Given the description of an element on the screen output the (x, y) to click on. 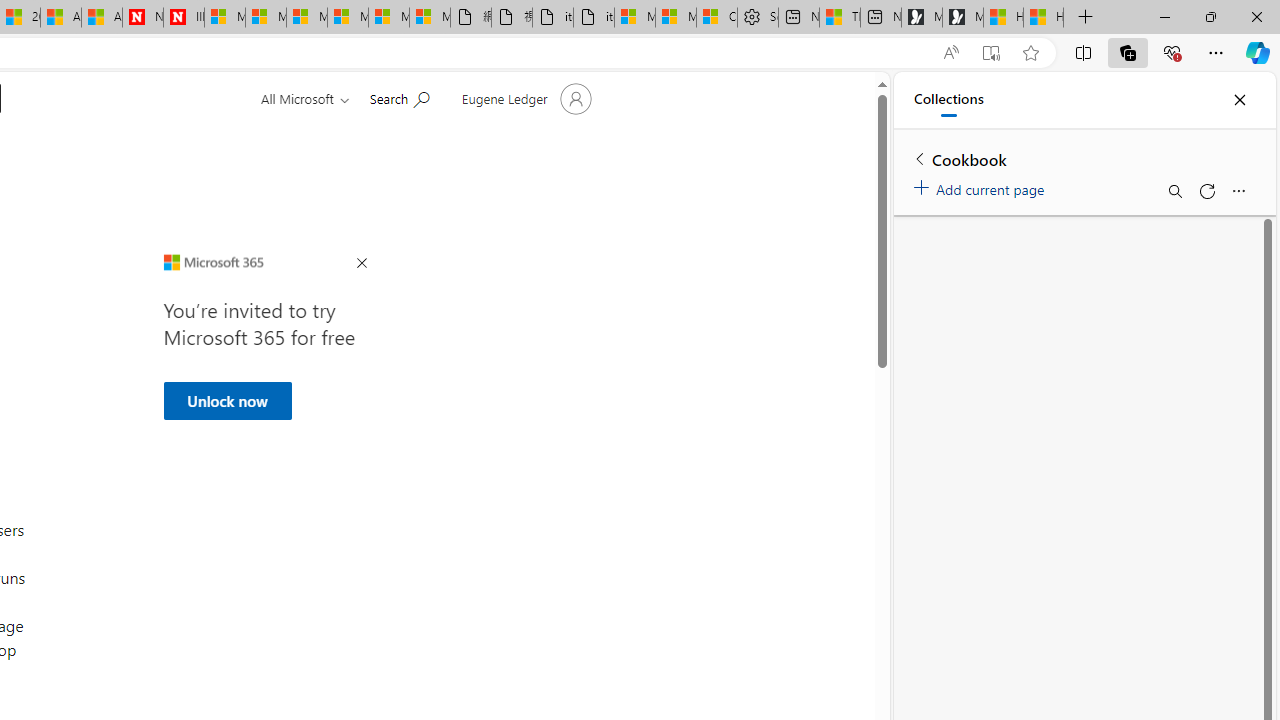
Enter Immersive Reader (F9) (991, 53)
Add current page (982, 186)
Settings and more (Alt+F) (1215, 52)
Search for help (399, 97)
Close (1239, 99)
How to Use a TV as a Computer Monitor (1043, 17)
Newsweek - News, Analysis, Politics, Business, Technology (142, 17)
Unlock now (226, 399)
